Given the description of an element on the screen output the (x, y) to click on. 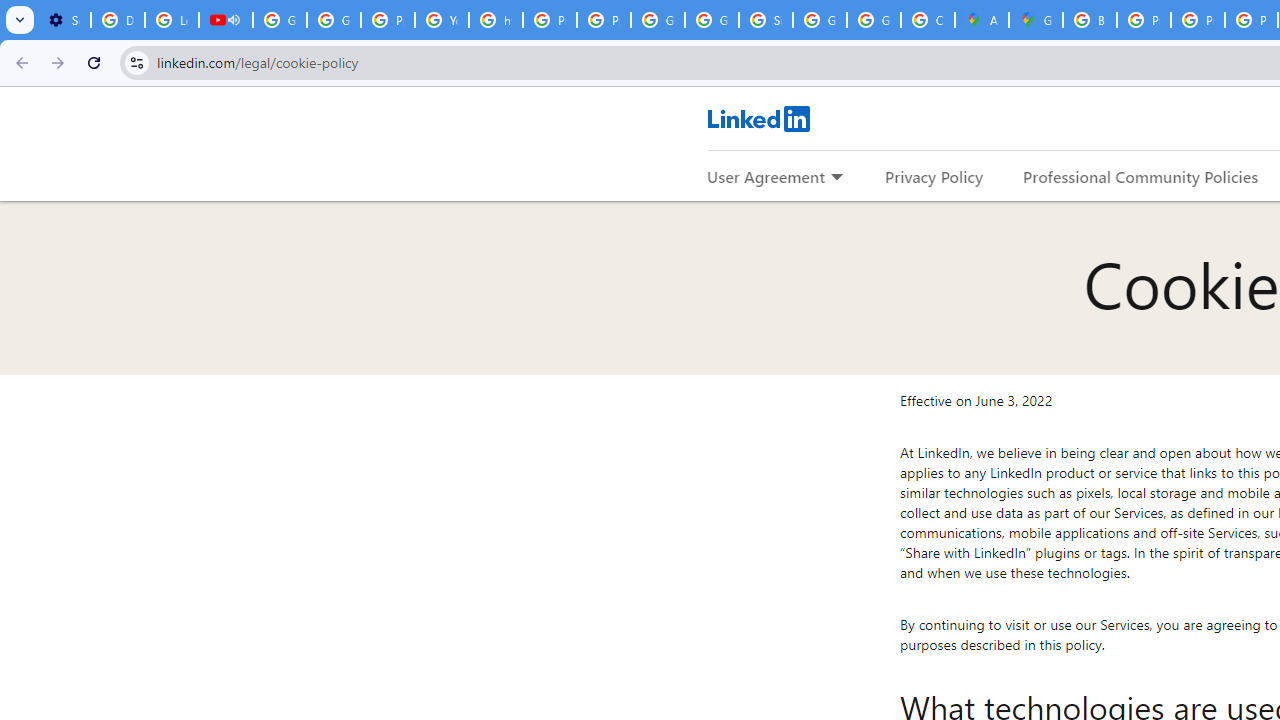
Blogger Policies and Guidelines - Transparency Center (1089, 20)
Google Account Help (280, 20)
YouTube (441, 20)
Expand to show more links for User Agreement (836, 178)
Settings - Customize profile (63, 20)
